Given the description of an element on the screen output the (x, y) to click on. 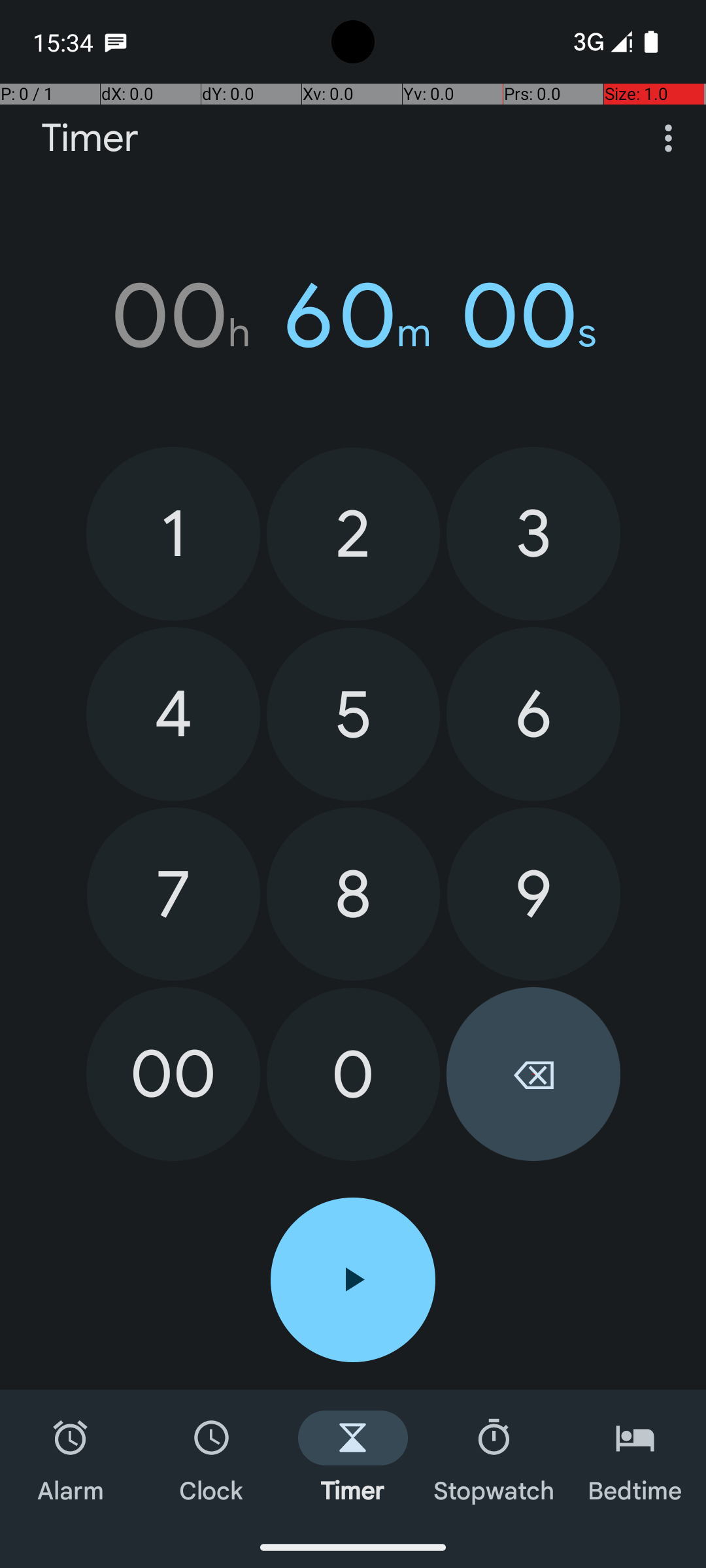
00h 60m 00s Element type: android.widget.TextView (353, 315)
